Given the description of an element on the screen output the (x, y) to click on. 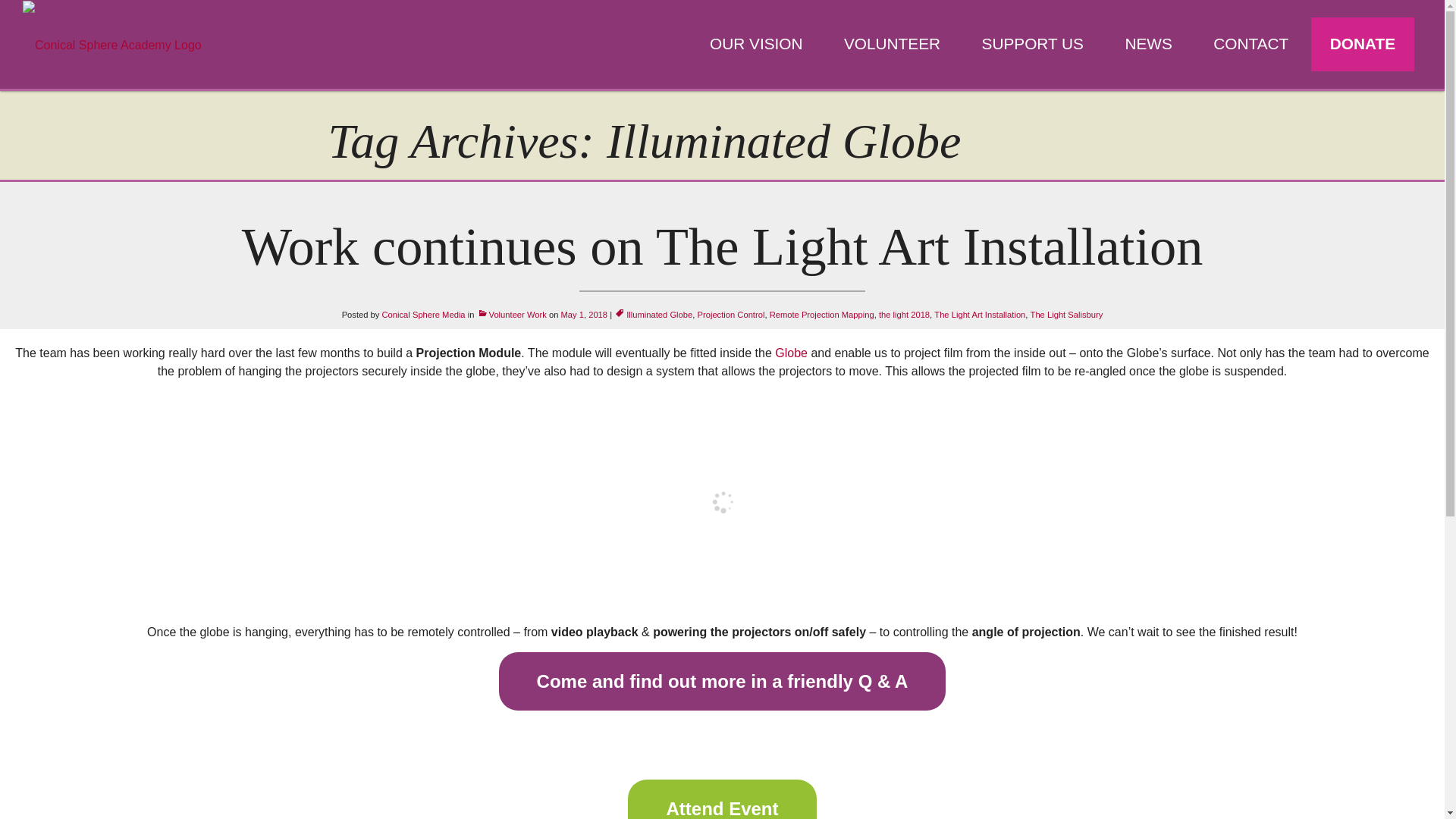
OUR VISION (756, 44)
Work continues on The Light Art Installation (722, 246)
Projection Control (730, 314)
Remote Projection Mapping (822, 314)
VOLUNTEER (892, 44)
View all posts by Conical Sphere Media (423, 314)
Globe (792, 352)
DONATE (1362, 44)
CONTACT (1250, 44)
Conical Sphere Media (423, 314)
Permalink to Work continues on The Light Art Installation (583, 314)
May 1, 2018 (583, 314)
the light 2018 (904, 314)
